Given the description of an element on the screen output the (x, y) to click on. 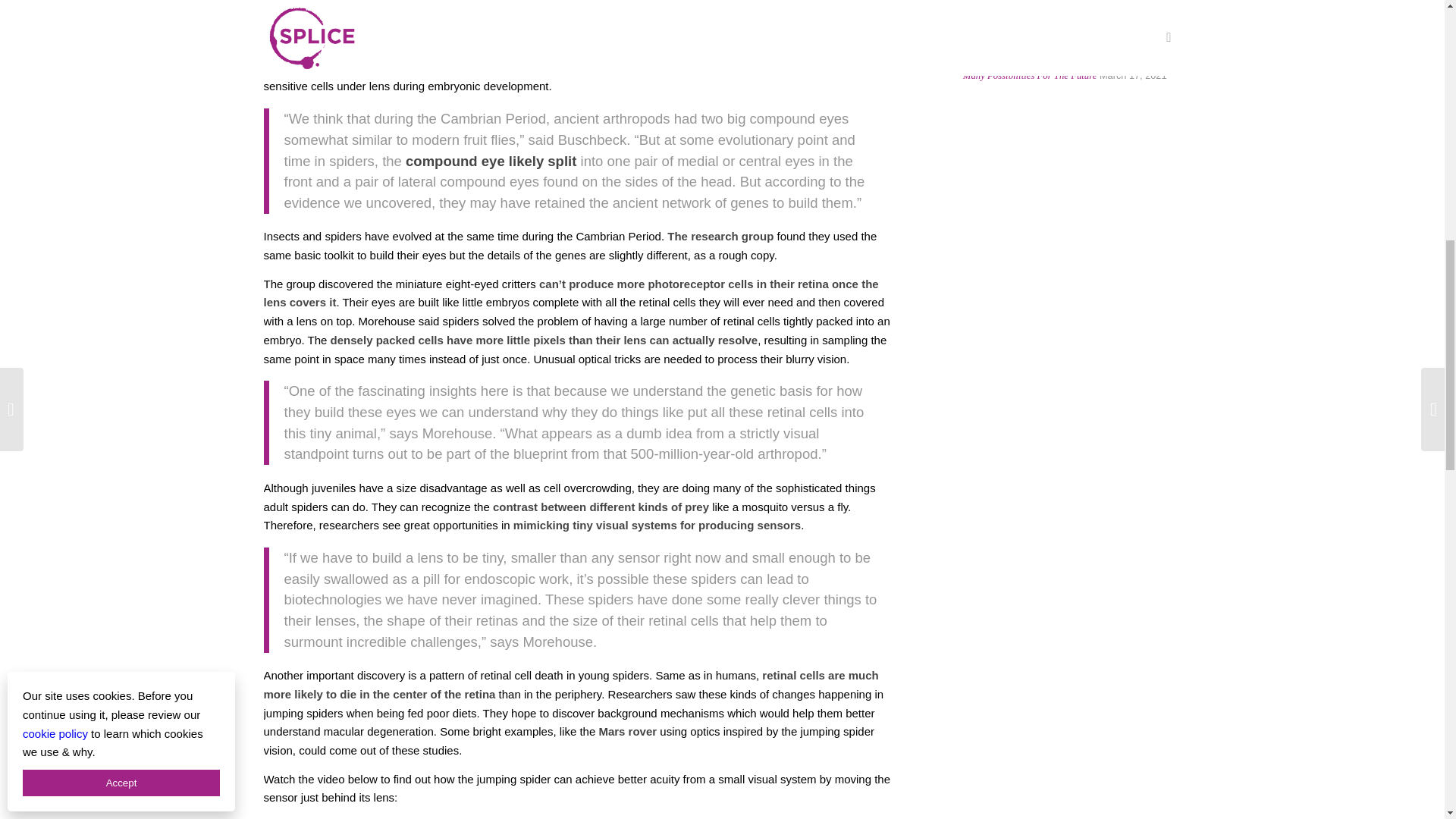
Mars rover (627, 730)
multiple eyes (538, 48)
larger project recently published (783, 10)
SICB Conference (499, 10)
The research group (719, 236)
